Given the description of an element on the screen output the (x, y) to click on. 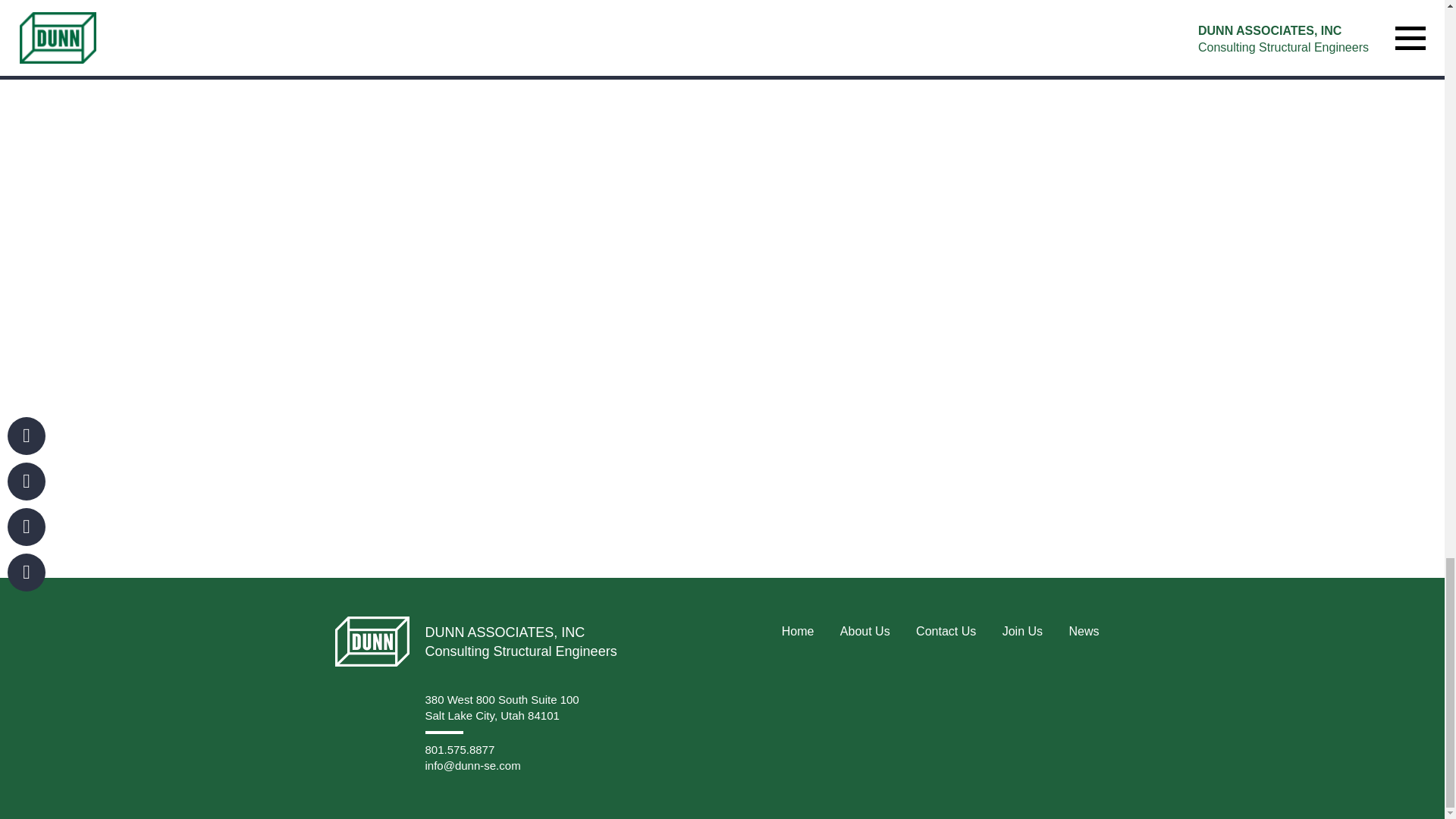
About Us (864, 631)
Home (797, 631)
Join Us (1022, 631)
Contact Us (945, 631)
801.575.8877 (460, 748)
